Given the description of an element on the screen output the (x, y) to click on. 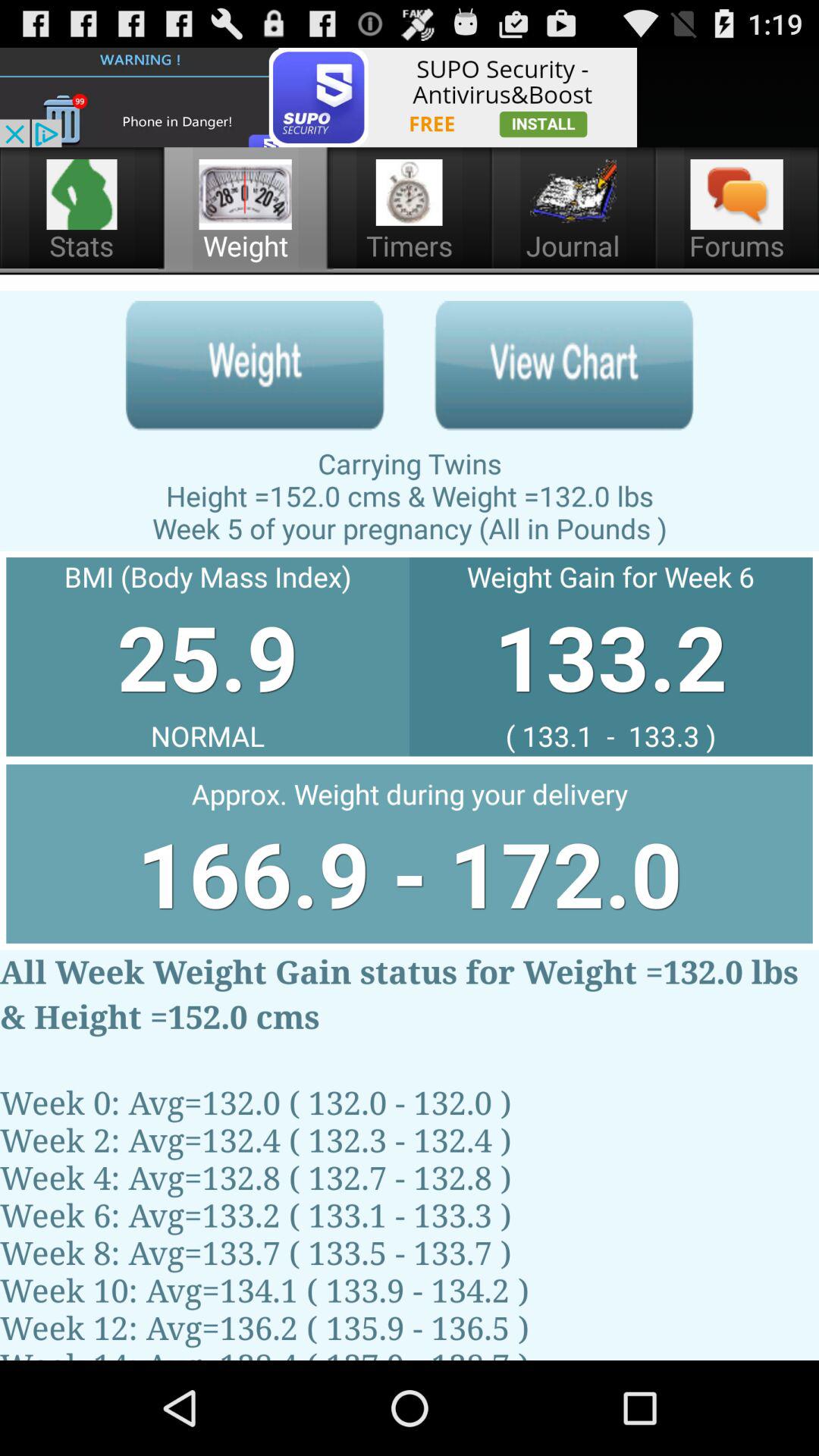
weight (254, 365)
